Given the description of an element on the screen output the (x, y) to click on. 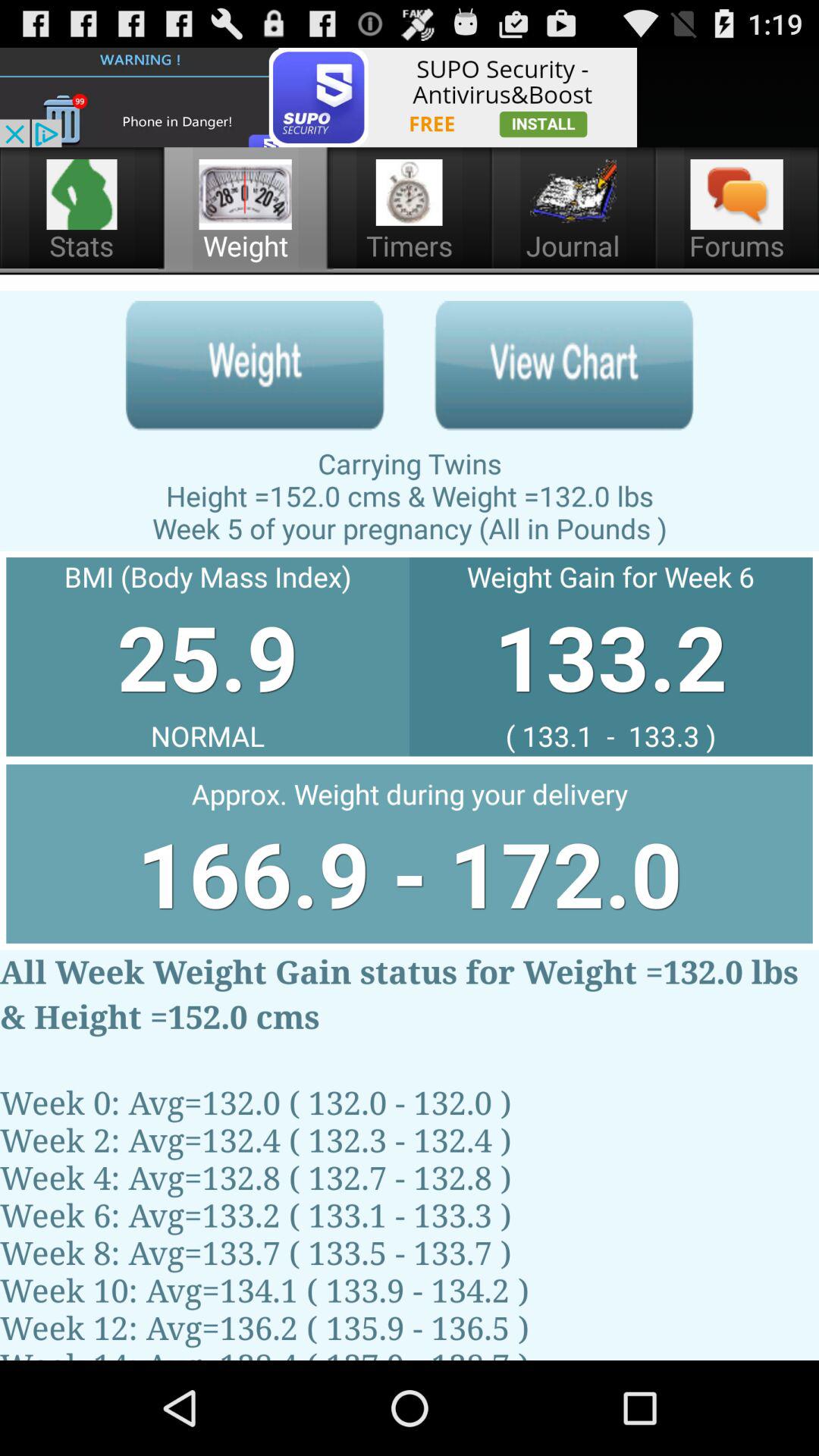
weight (254, 365)
